Given the description of an element on the screen output the (x, y) to click on. 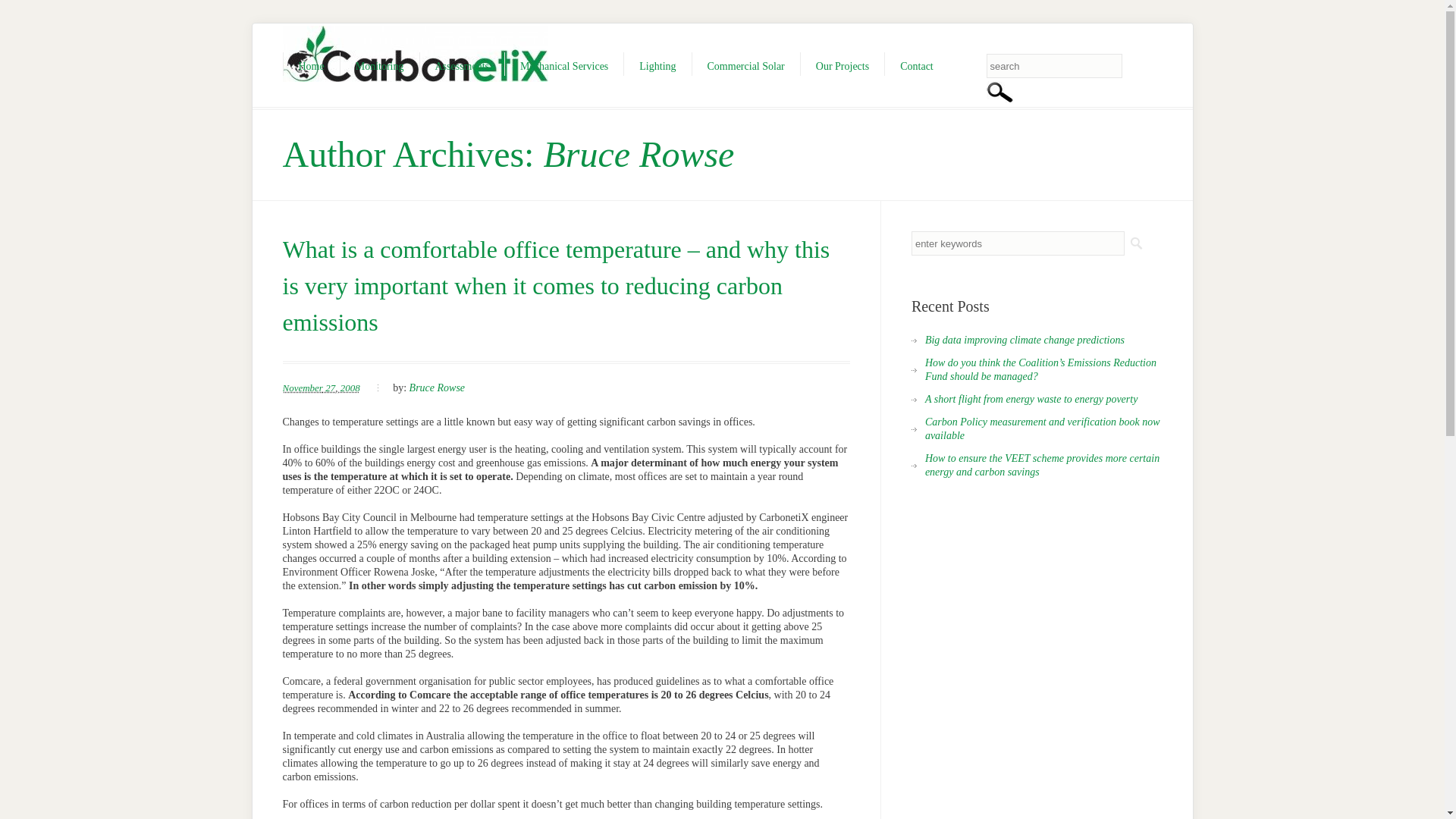
Big data improving climate change predictions (1017, 340)
November 27, 2008 (320, 387)
Our Projects (841, 64)
Lighting (656, 64)
2008 (349, 387)
Contact (916, 64)
Bruce Rowse (436, 387)
CarbonetiX (414, 53)
Monitoring (379, 64)
Assessments (461, 64)
A short flight from energy waste to energy poverty (1024, 399)
